Given the description of an element on the screen output the (x, y) to click on. 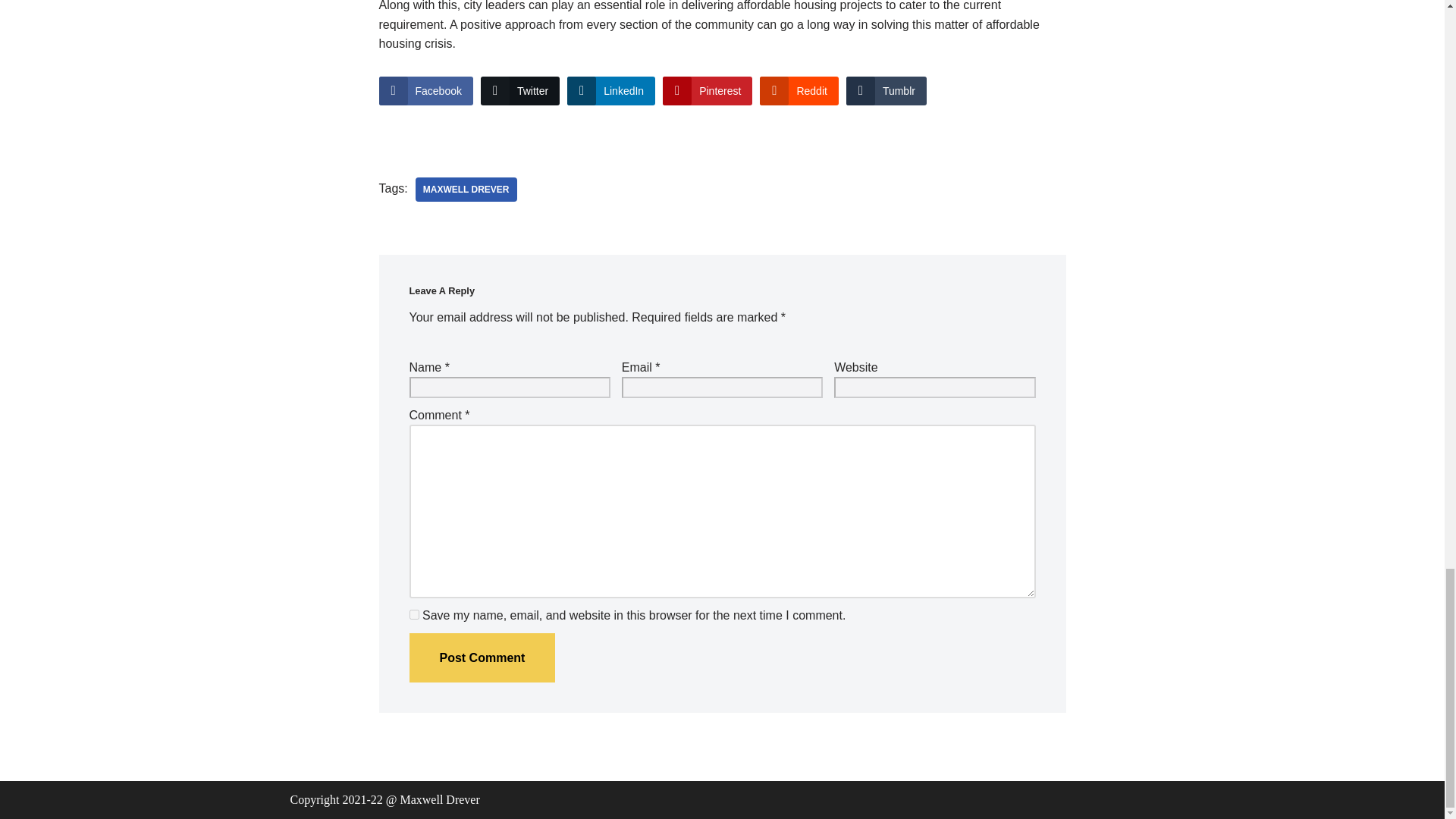
MAXWELL DREVER (465, 189)
Pinterest (707, 90)
LinkedIn (611, 90)
yes (414, 614)
Twitter (519, 90)
Tumblr (885, 90)
Facebook (425, 90)
Post Comment (482, 658)
Maxwell Drever (465, 189)
Reddit (799, 90)
